Given the description of an element on the screen output the (x, y) to click on. 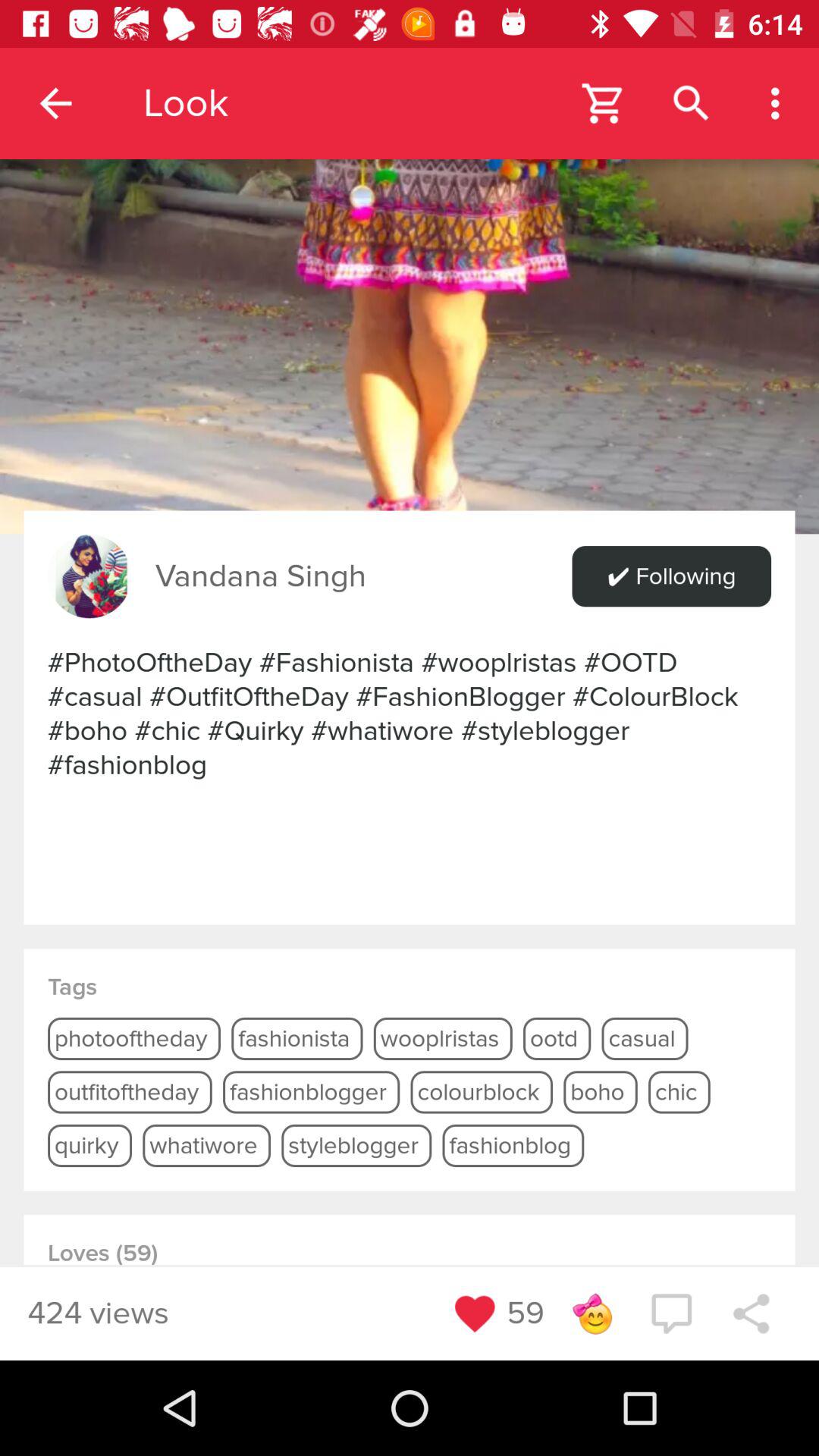
put a like on the photo (474, 1313)
